Given the description of an element on the screen output the (x, y) to click on. 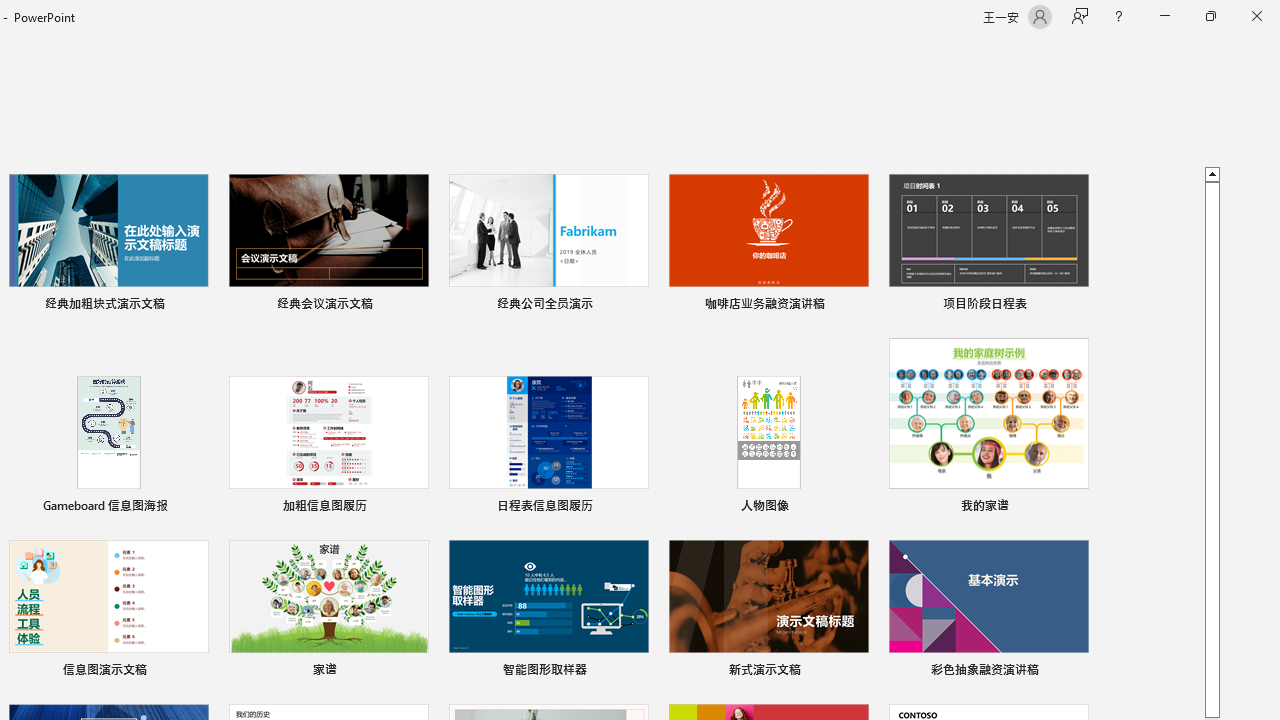
Pin to list (1075, 671)
